Given the description of an element on the screen output the (x, y) to click on. 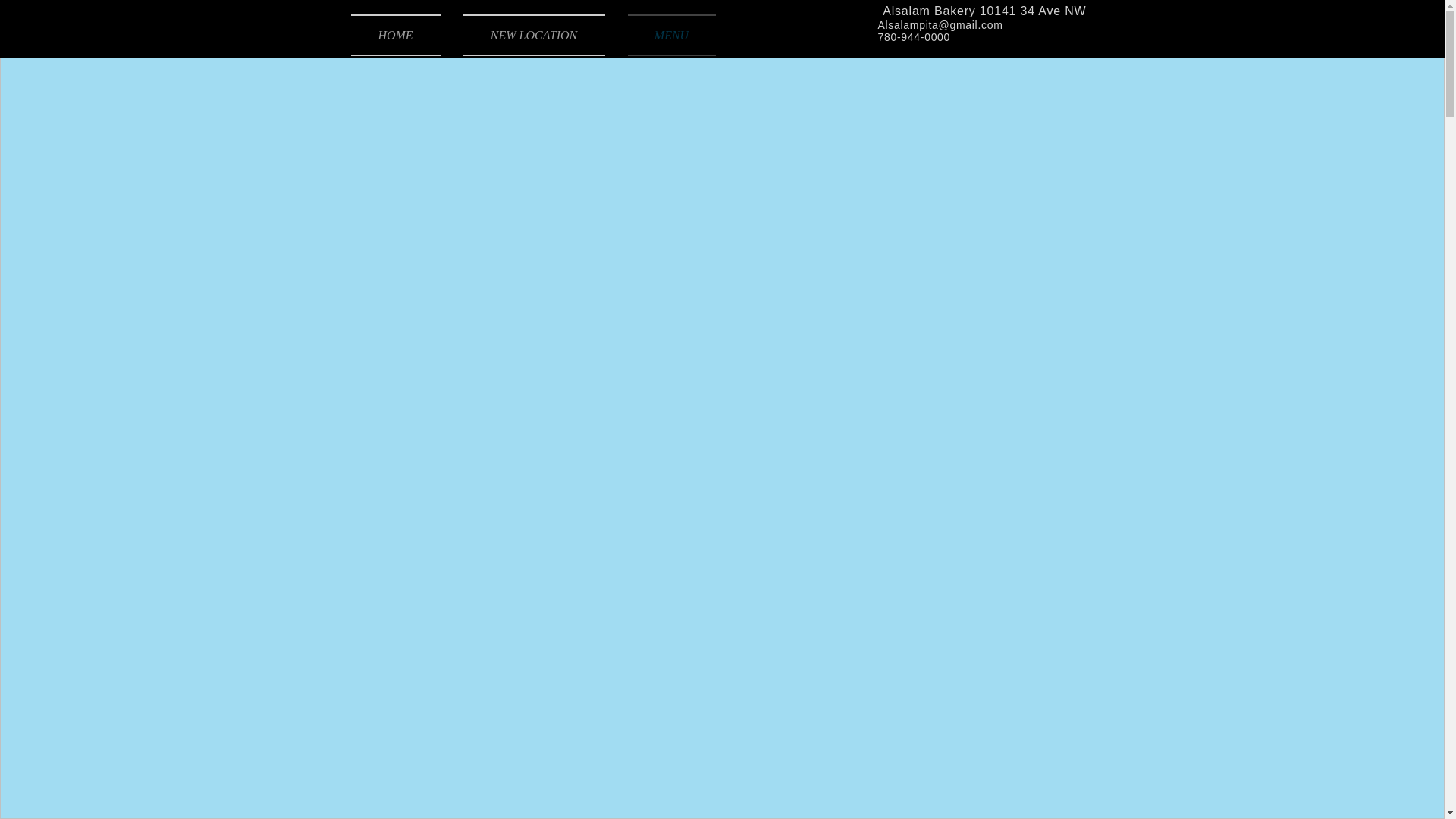
MENU Element type: text (665, 35)
Alsalampita@gmail.com Element type: text (940, 24)
HOME Element type: text (400, 35)
NEW LOCATION Element type: text (533, 35)
